Given the description of an element on the screen output the (x, y) to click on. 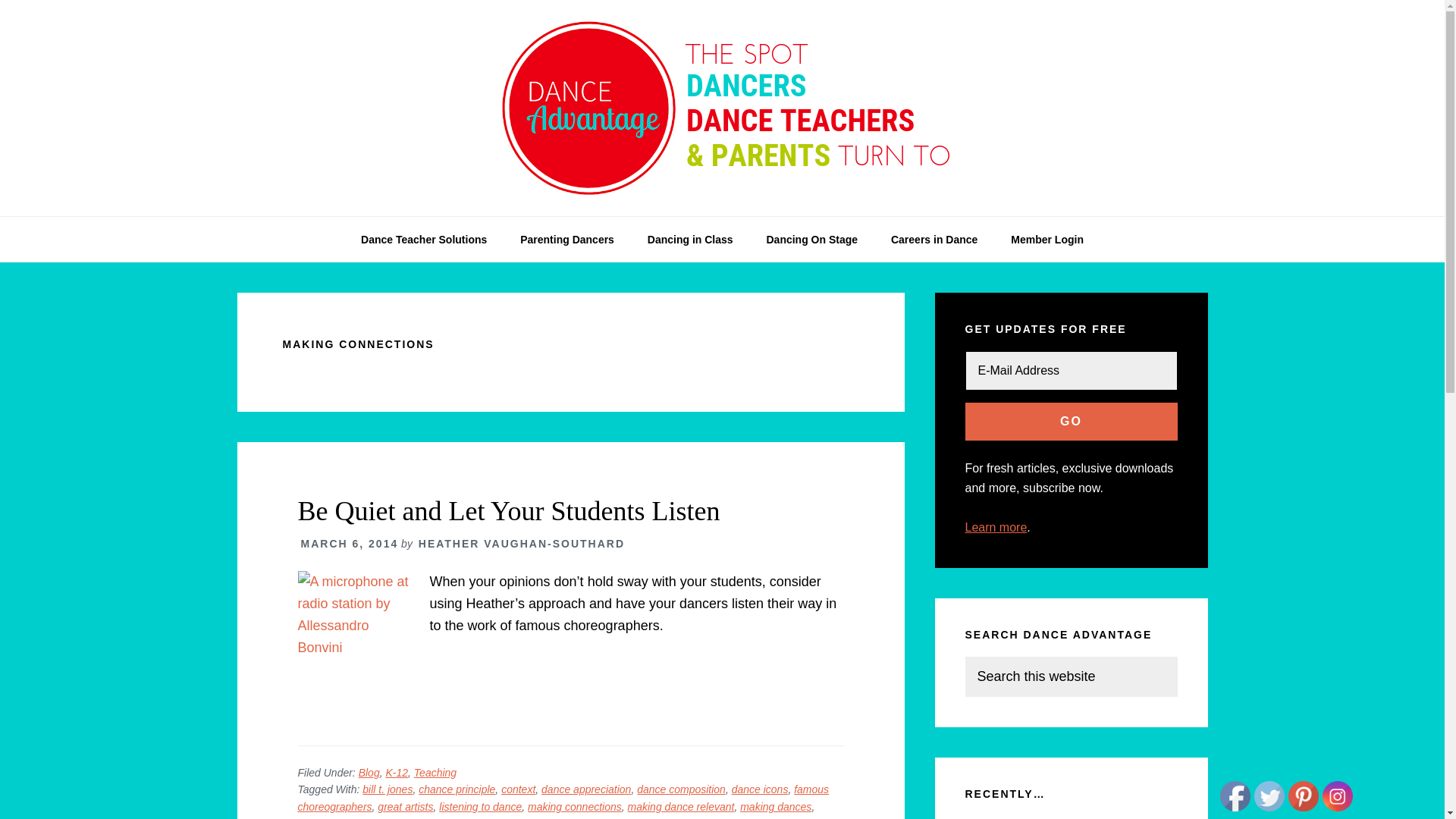
dance icons (760, 788)
making dance relevant (681, 806)
Dance Advantage (722, 211)
chance principle (457, 788)
Parenting Dancers (566, 239)
Go (1069, 421)
Tips, advice, and topics for dance students (689, 239)
Teaching (435, 772)
listening to dance (480, 806)
Subscriber and Customer Login (1047, 239)
bill t. jones (387, 788)
context (517, 788)
Adivice and resources for dance parents (566, 239)
